Given the description of an element on the screen output the (x, y) to click on. 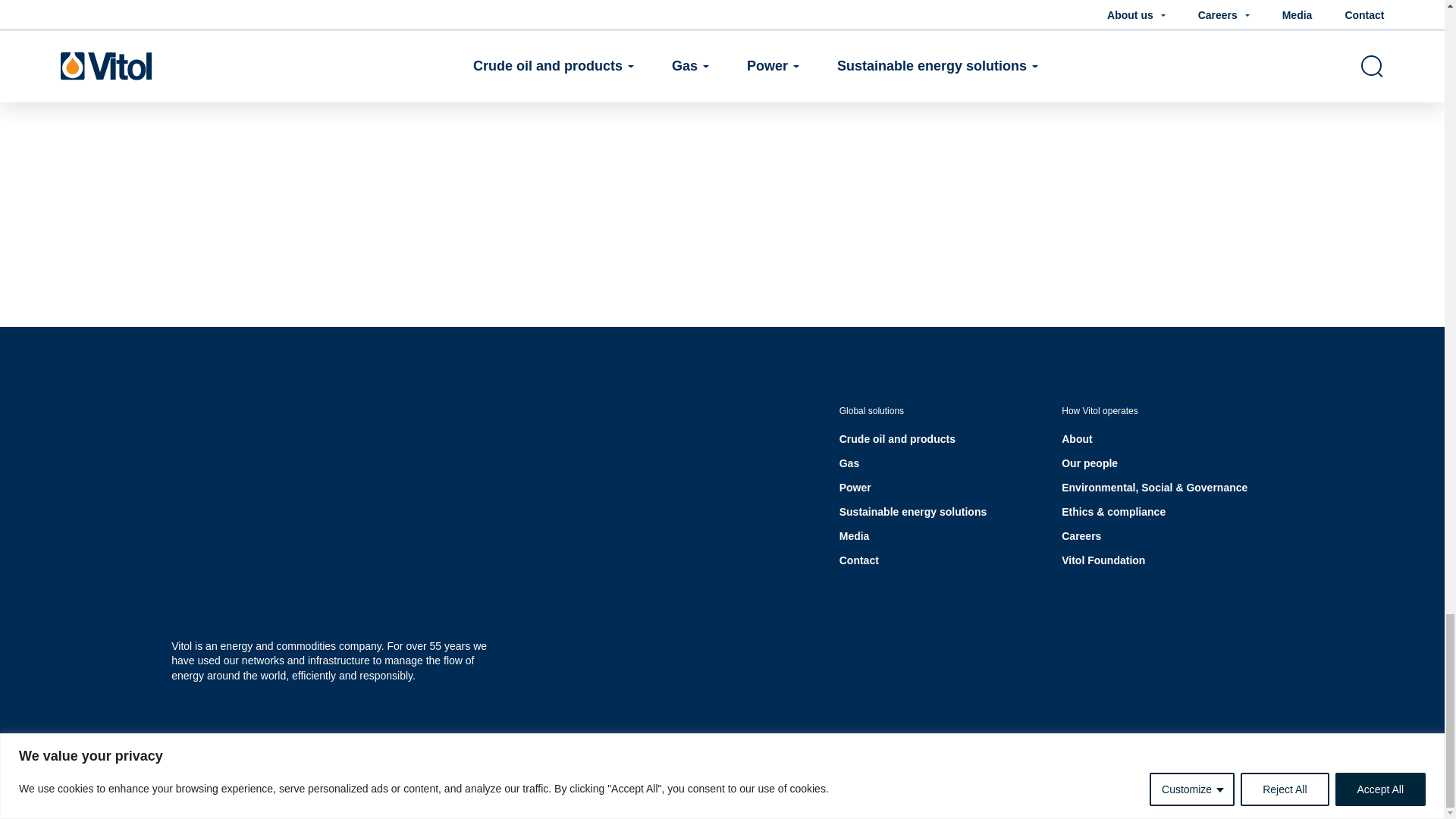
Cookie Preferences (1211, 765)
Privacy policy (806, 765)
Cookie policy (891, 765)
Modern slavery policy statement (1012, 765)
Vitol documents (621, 765)
Legal disclaimer (716, 765)
Sitemap (1124, 765)
Vitol SDS documents (517, 765)
